Given the description of an element on the screen output the (x, y) to click on. 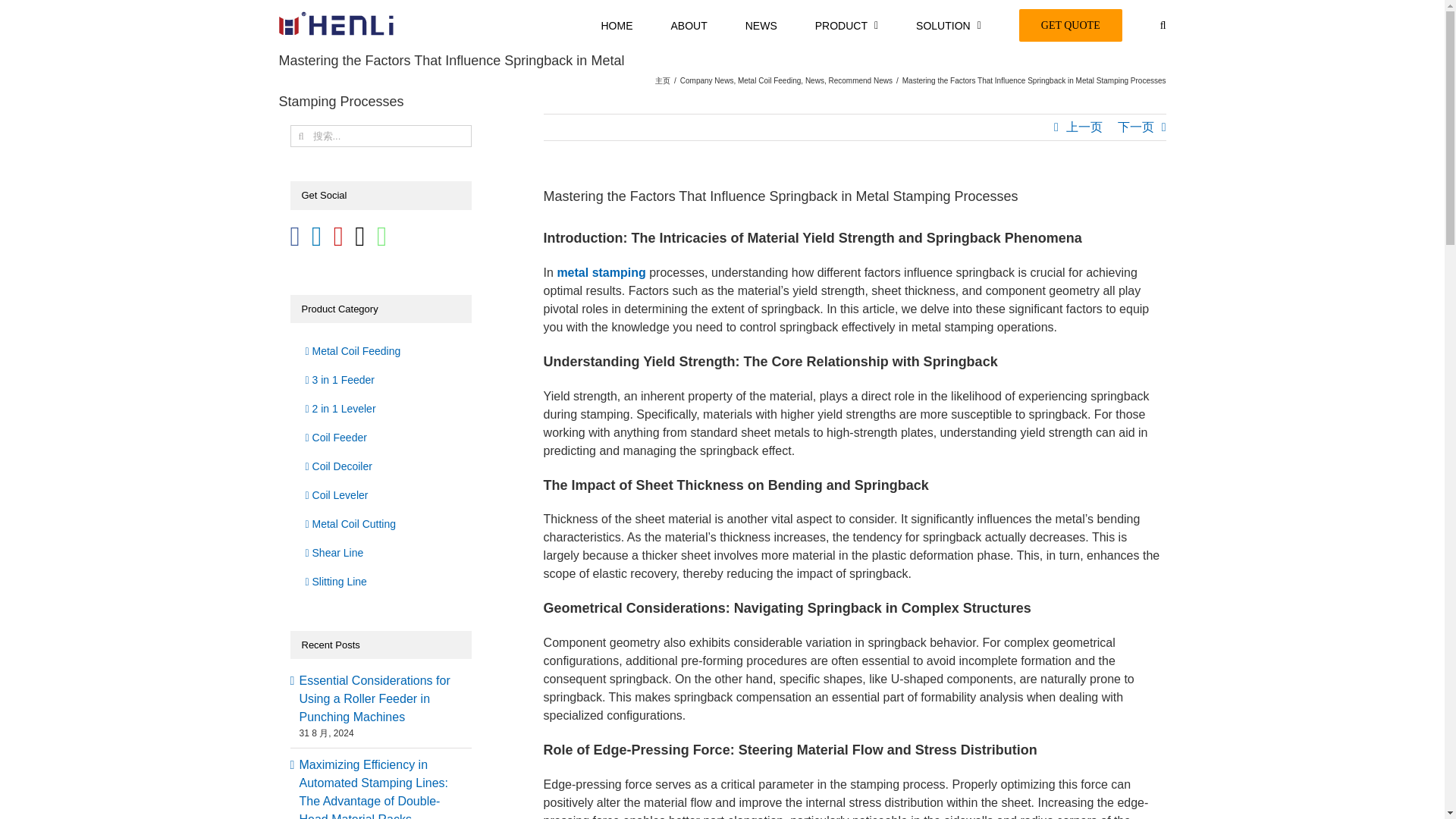
SOLUTION (948, 23)
GET QUOTE (1070, 23)
PRODUCT (846, 23)
Company News (706, 80)
Metal Coil Feeding (769, 80)
News (814, 80)
